Given the description of an element on the screen output the (x, y) to click on. 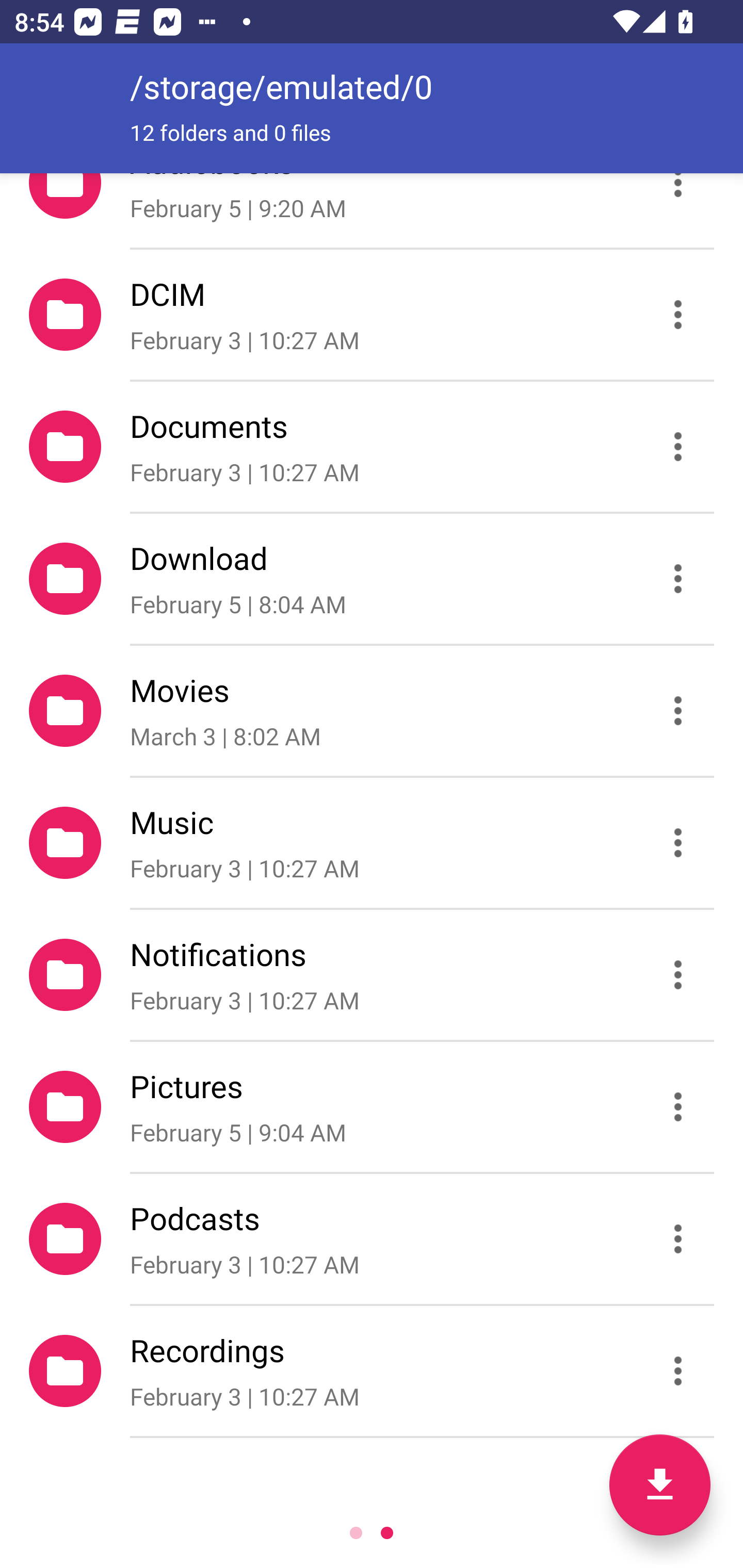
Audiobooks February 5 | 9:20 AM (371, 210)
DCIM February 3 | 10:27 AM (371, 314)
Documents February 3 | 10:27 AM (371, 446)
Download February 5 | 8:04 AM (371, 579)
Movies March 3 | 8:02 AM (371, 711)
Music February 3 | 10:27 AM (371, 842)
Notifications February 3 | 10:27 AM (371, 974)
Pictures February 5 | 9:04 AM (371, 1106)
Podcasts February 3 | 10:27 AM (371, 1239)
Recordings February 3 | 10:27 AM (371, 1371)
